Given the description of an element on the screen output the (x, y) to click on. 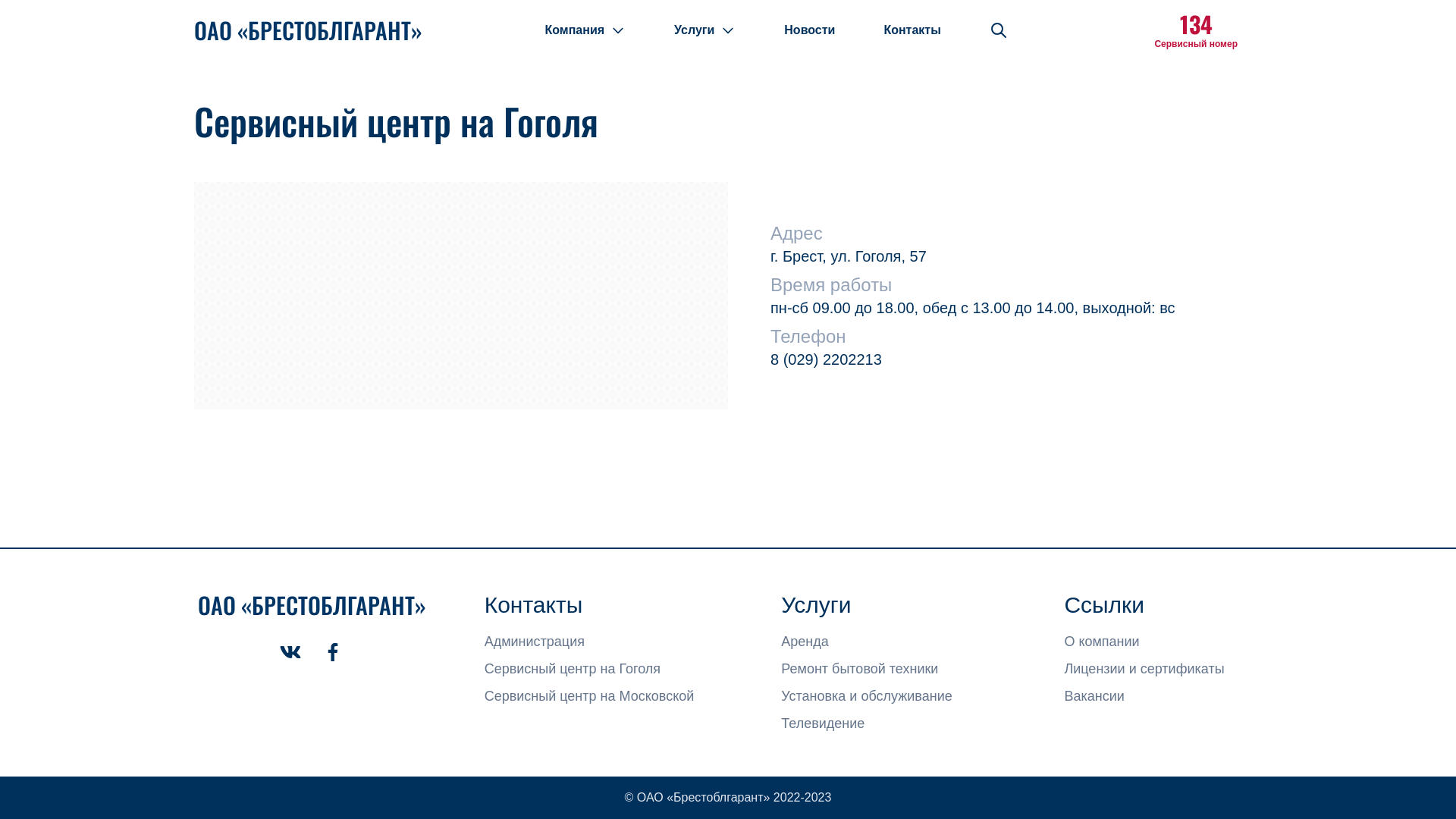
8 (029) 2202213 Element type: text (825, 359)
